Given the description of an element on the screen output the (x, y) to click on. 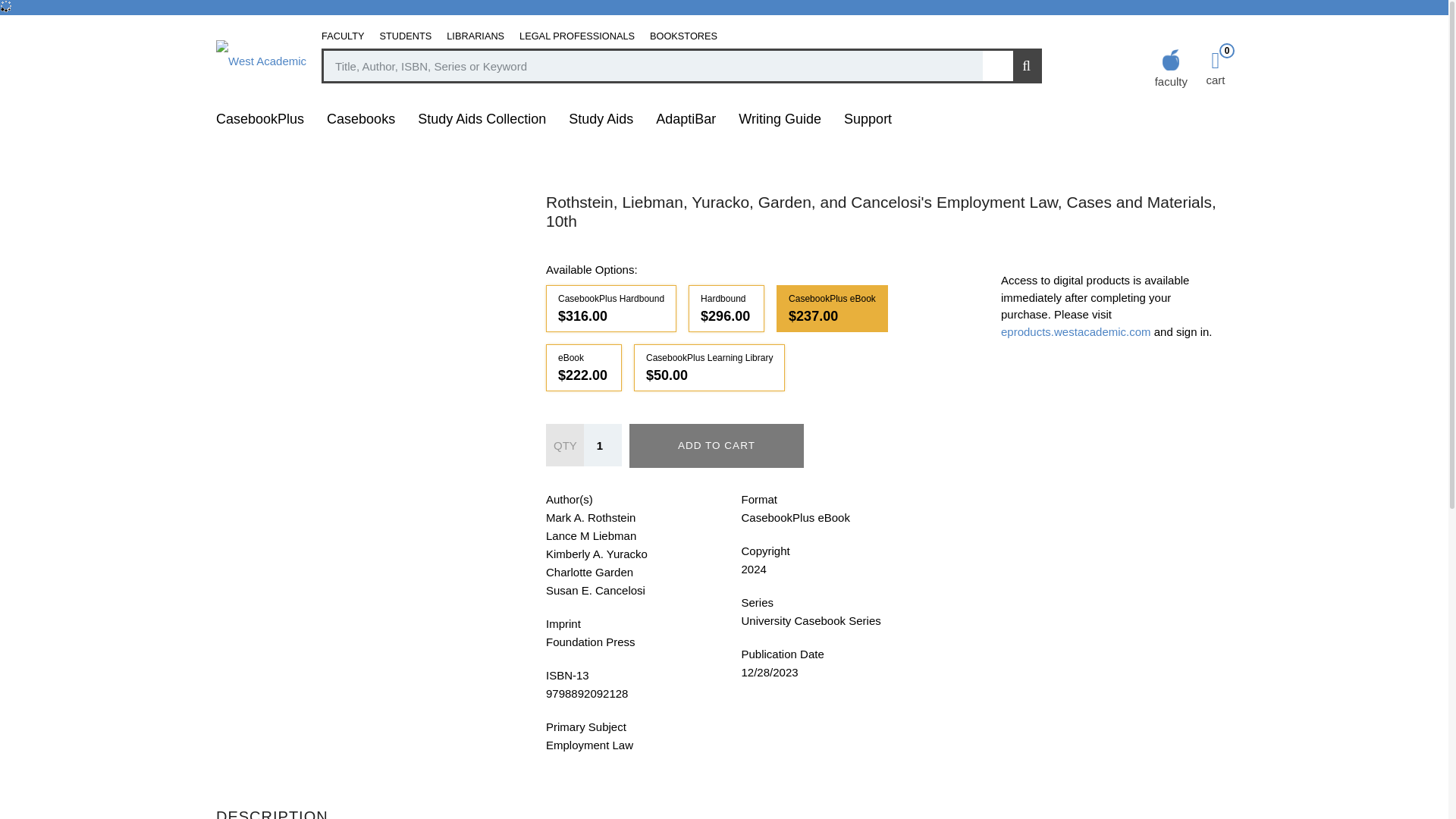
STUDENTS (406, 35)
West Academic SCA (260, 59)
ADD TO CART (715, 445)
FACULTY (342, 35)
Study Aids (600, 118)
Support (867, 118)
faculty (1174, 67)
AdaptiBar (685, 118)
Casebooks (360, 118)
Writing Guide (779, 118)
